Given the description of an element on the screen output the (x, y) to click on. 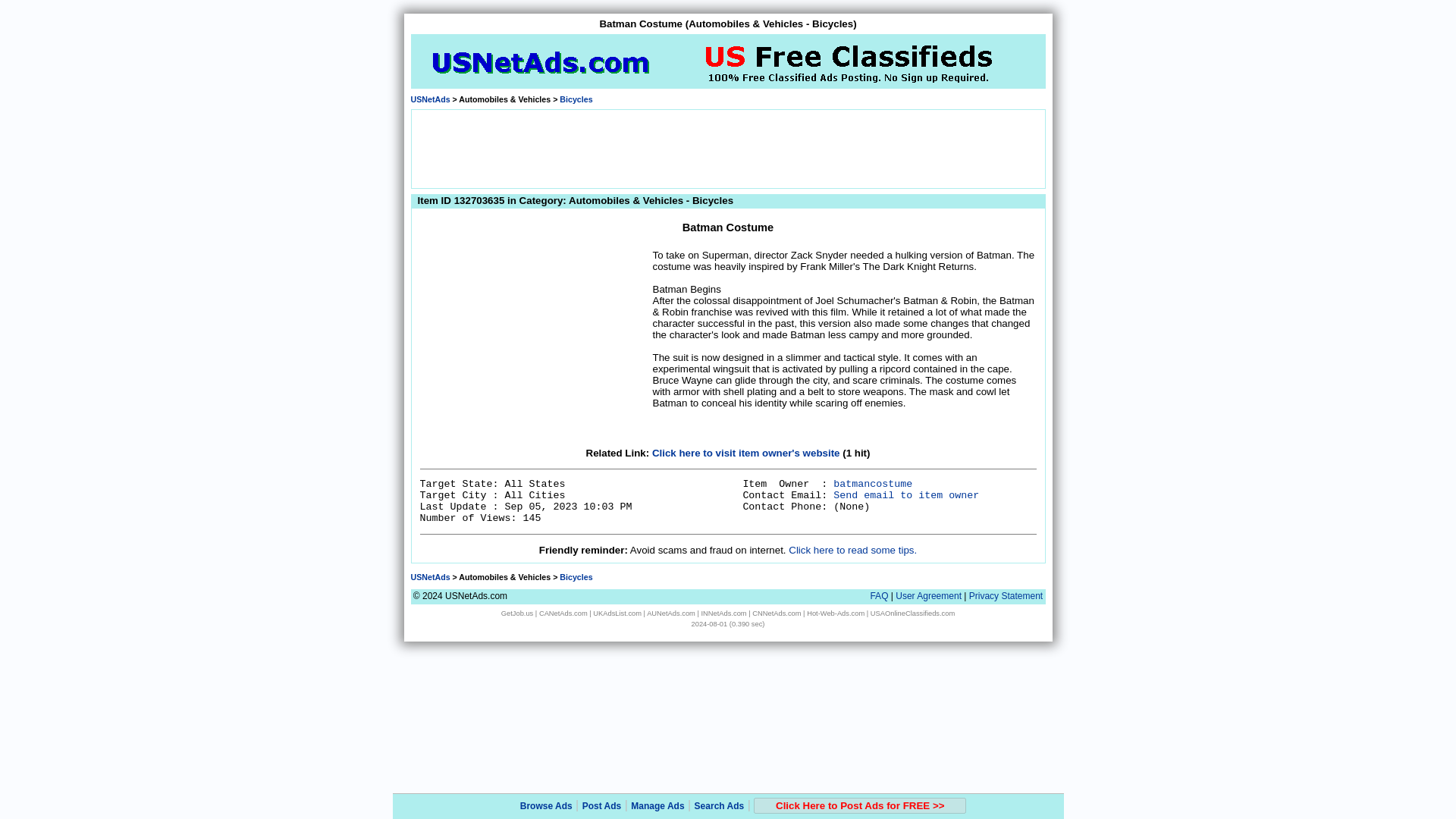
User Agreement (927, 595)
GetJob.us (517, 613)
batmancostume (872, 483)
Advertisement (533, 342)
USNetAds (429, 99)
Bicycles (575, 576)
Click here to read some tips. (853, 550)
AUNetAds.com (670, 613)
Hot-Web-Ads.com (835, 613)
USNetAds (429, 576)
